Given the description of an element on the screen output the (x, y) to click on. 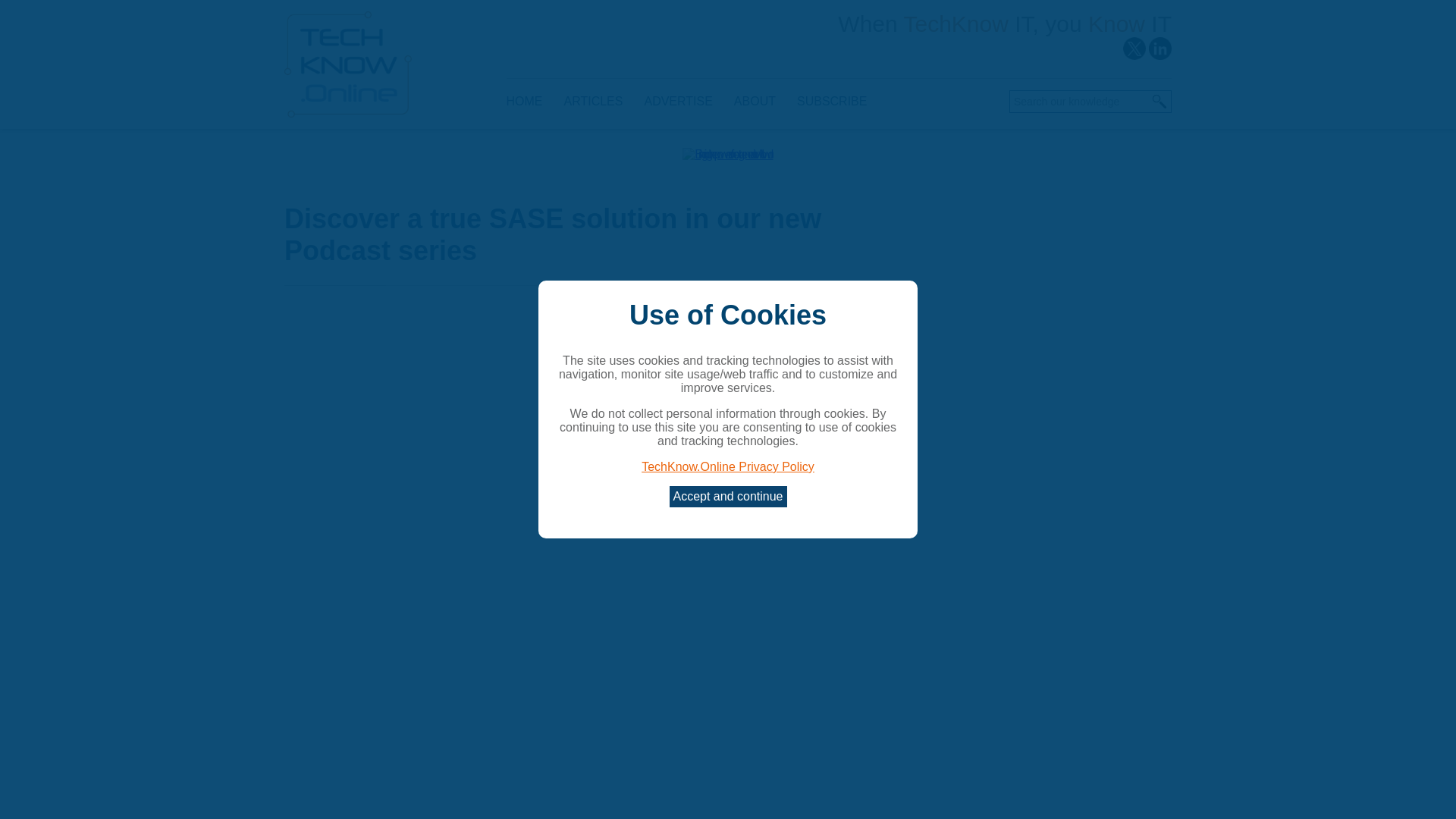
HOME (529, 101)
ABOUT (754, 101)
ARTICLES (593, 101)
ADVERTISE (677, 101)
SUBSCRIBE (831, 101)
